Given the description of an element on the screen output the (x, y) to click on. 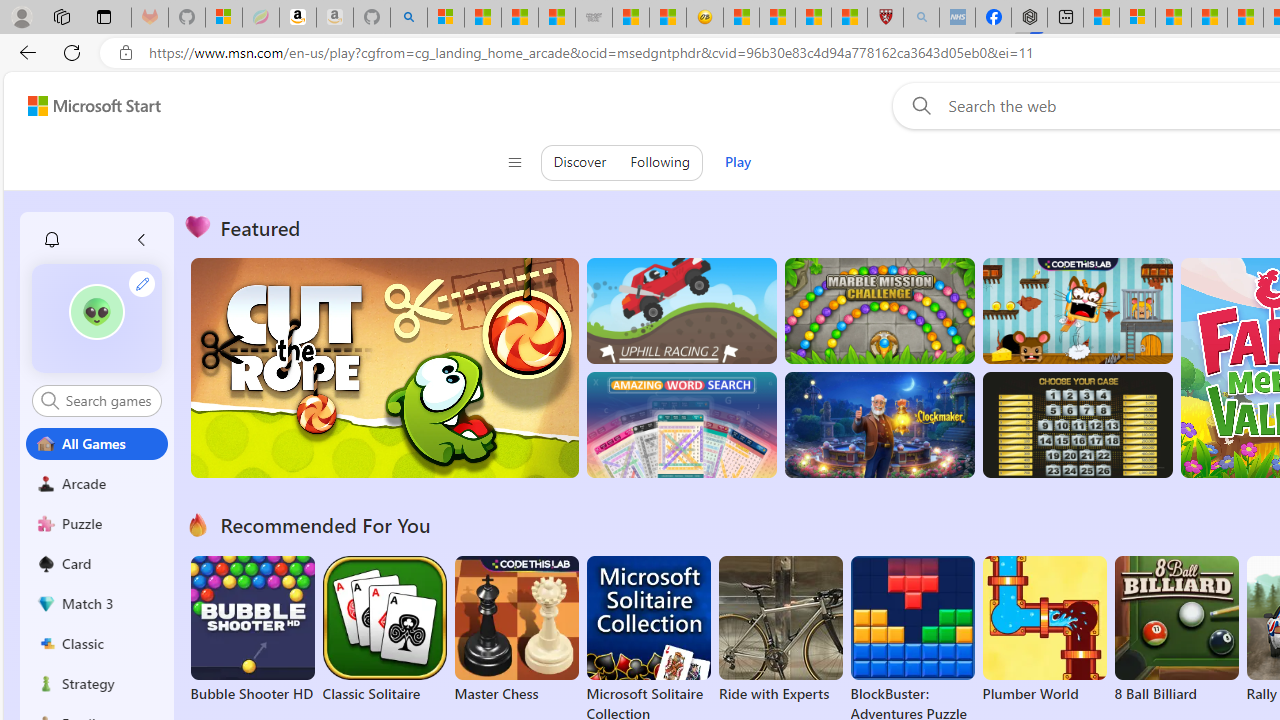
Following (660, 161)
Fitness - MSN (1245, 17)
Recipes - MSN (741, 17)
Squicky (1076, 310)
Up Hill Racing 2 (681, 310)
Class: search-icon (50, 400)
Skip to content (86, 105)
Master Chess (516, 629)
